Given the description of an element on the screen output the (x, y) to click on. 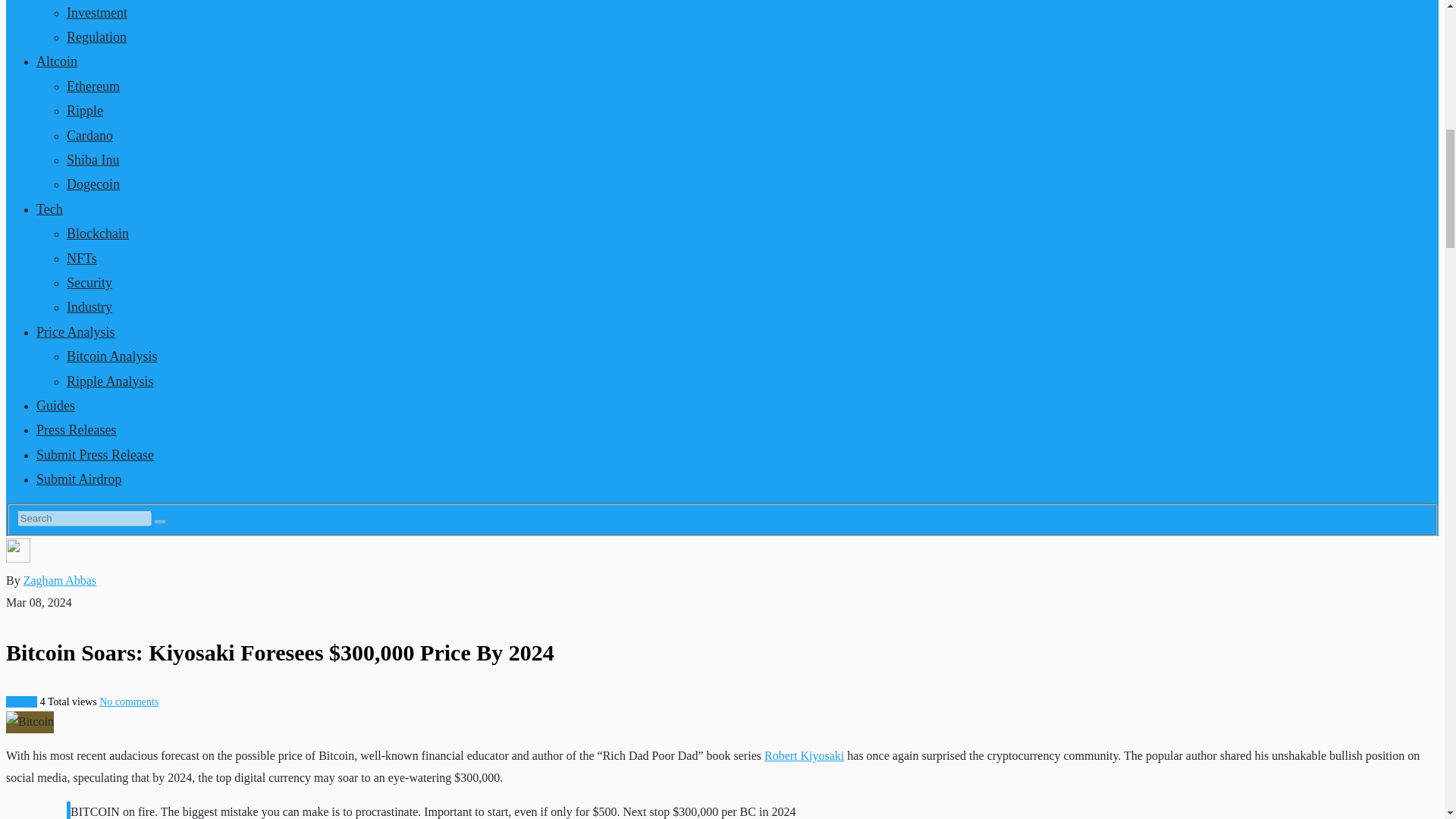
Tech (49, 209)
Cardano (89, 135)
Blockchain (97, 233)
View all posts in Bitcoin (21, 701)
Dogecoin (92, 183)
Views (69, 701)
Ripple (84, 110)
Altcoin (56, 61)
Posts by Zagham Abbas (59, 580)
Investment (97, 12)
